Given the description of an element on the screen output the (x, y) to click on. 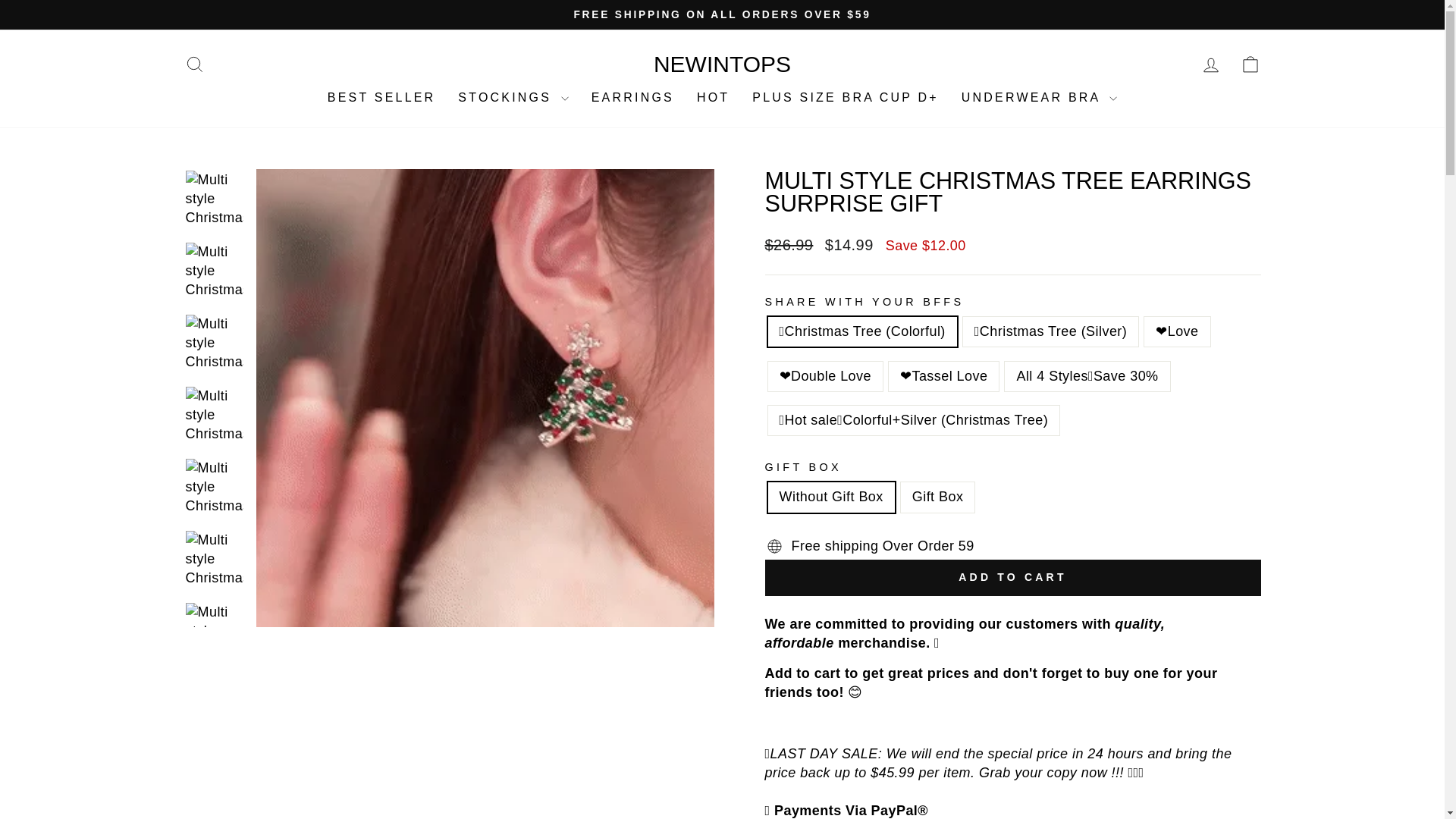
ICON-SEARCH (194, 64)
ICON-BAG-MINIMAL (1250, 64)
EARRINGS (632, 97)
HOT (1210, 64)
NEWINTOPS (713, 97)
Gift Box (721, 63)
ACCOUNT (380, 97)
